Given the description of an element on the screen output the (x, y) to click on. 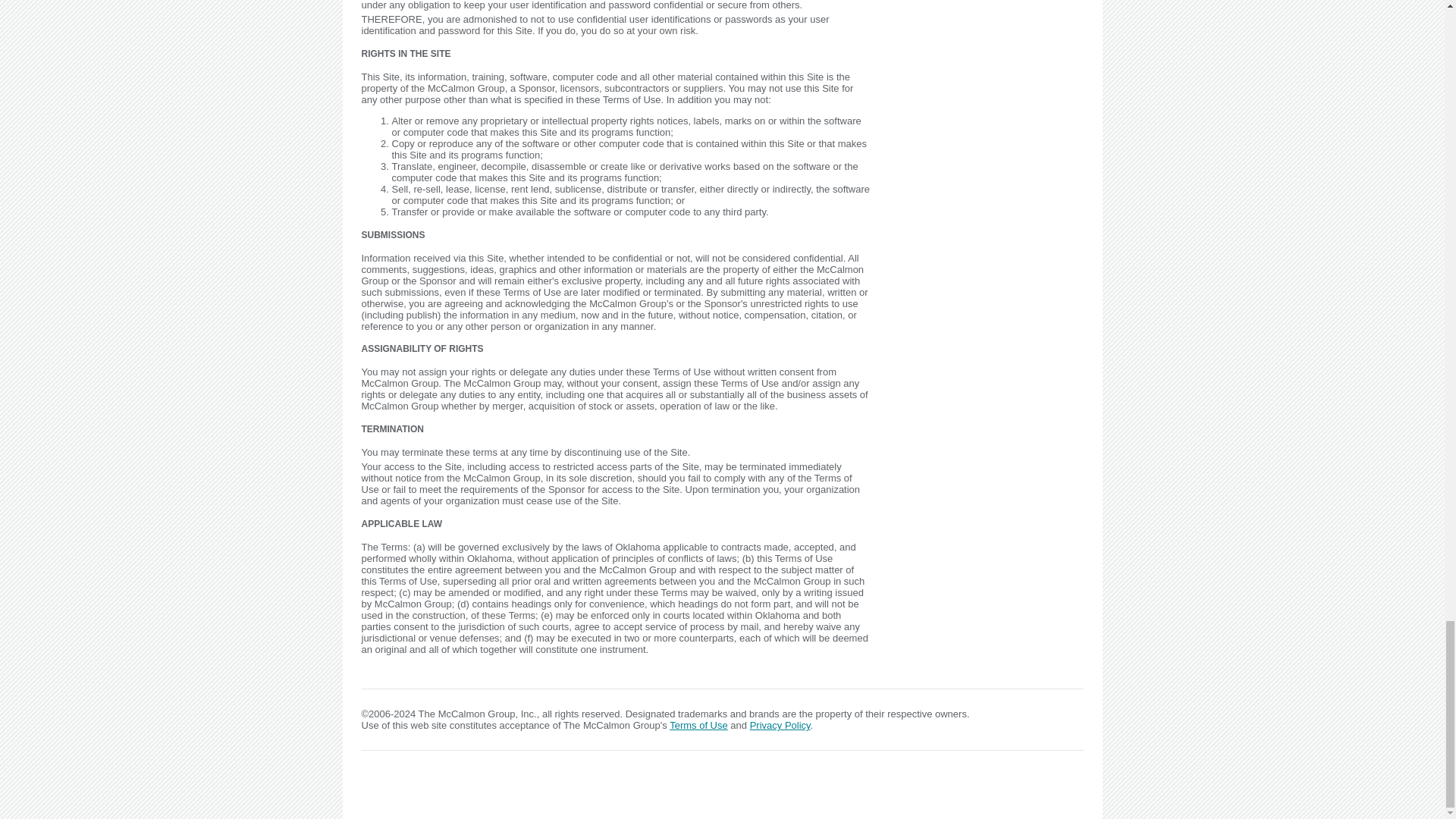
Terms of Use (698, 725)
Privacy Policy (779, 725)
